Given the description of an element on the screen output the (x, y) to click on. 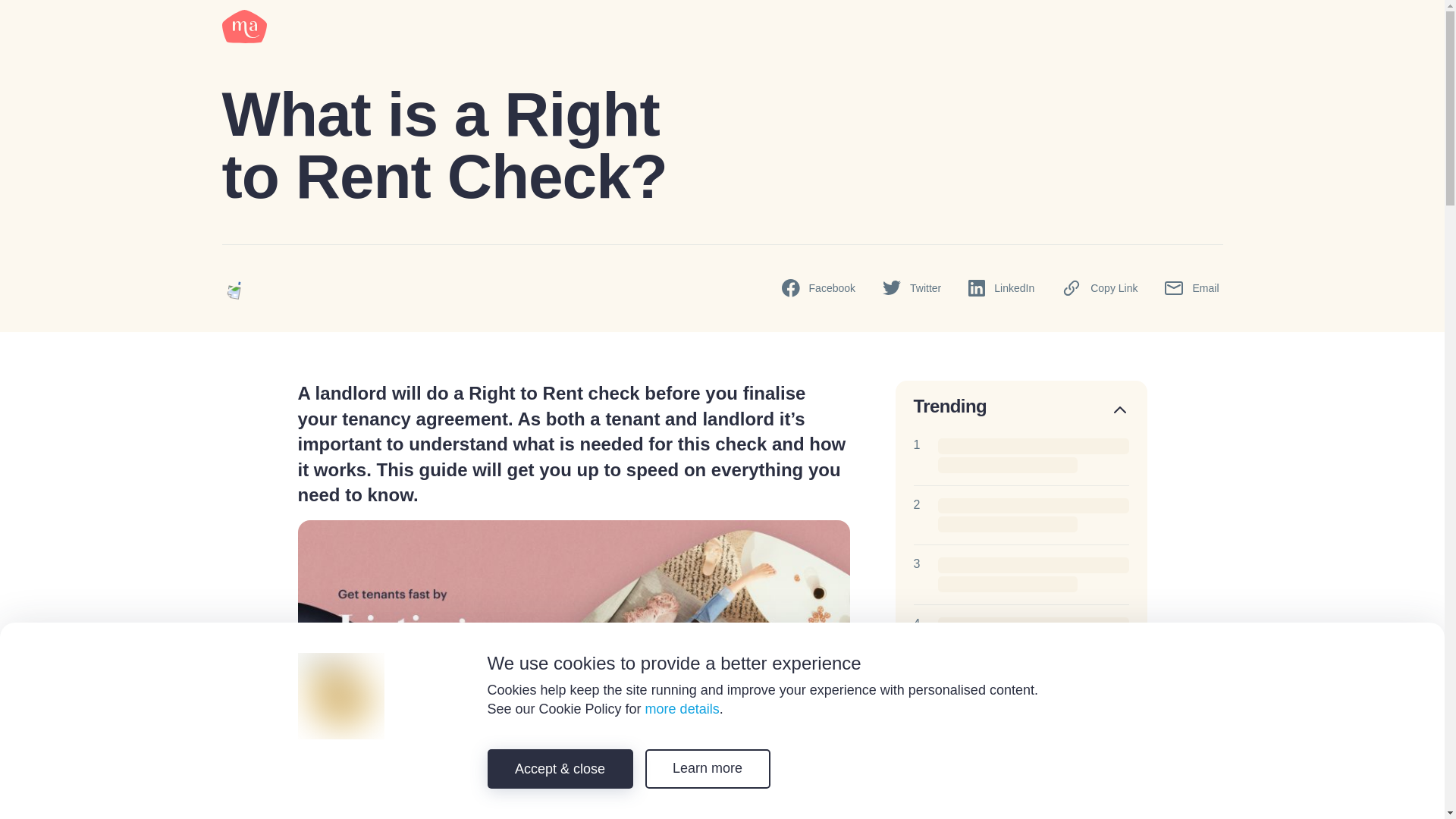
Twitter (911, 288)
LinkedIn (1000, 288)
Email (1191, 288)
Facebook (818, 288)
Learn more (707, 768)
more details (682, 708)
